Given the description of an element on the screen output the (x, y) to click on. 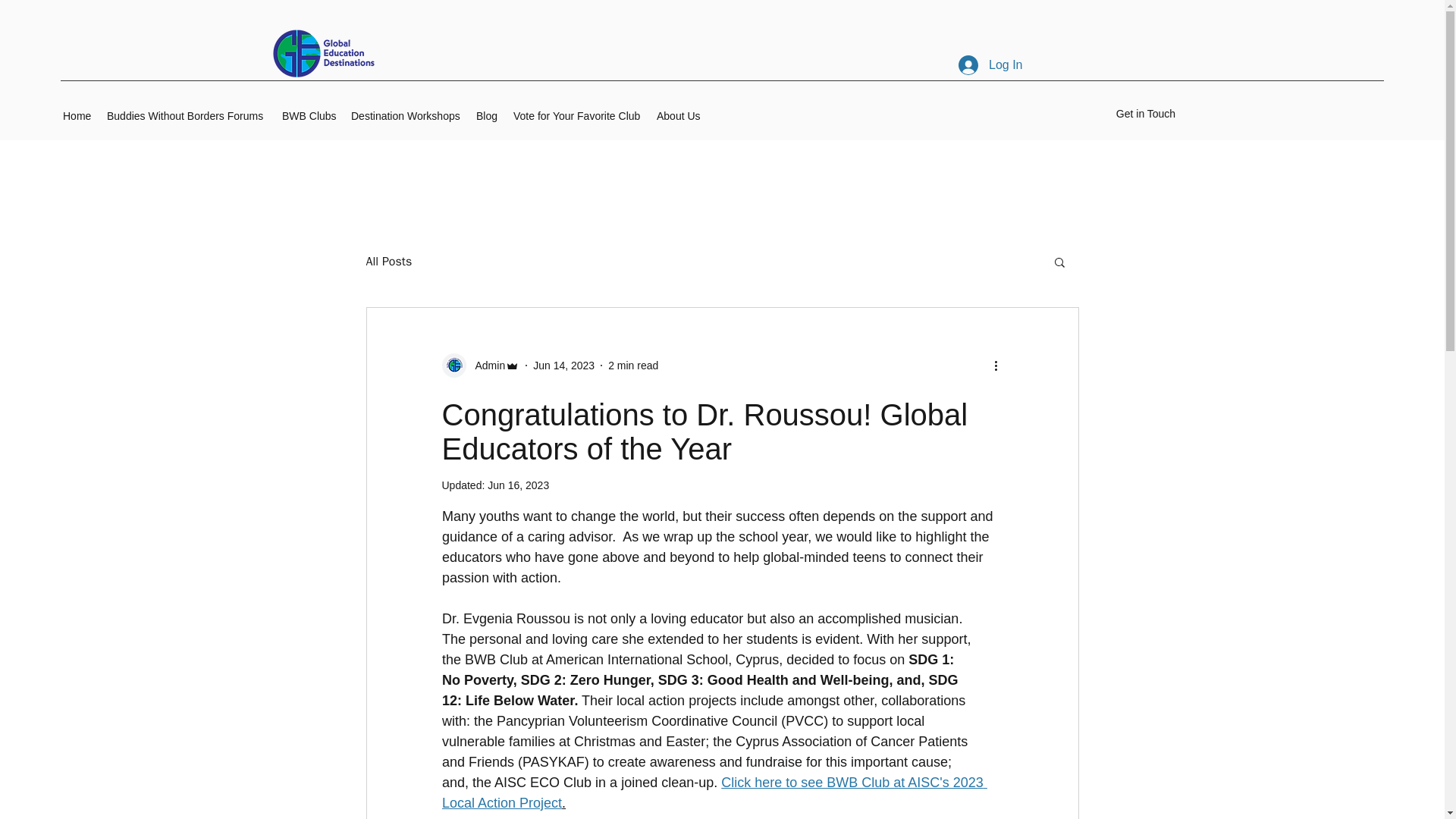
Destination Workshops (405, 115)
All Posts (388, 261)
Log In (989, 64)
Admin (480, 364)
Vote for Your Favorite Club (577, 115)
About Us (679, 115)
2 min read (633, 365)
BWB Clubs (309, 115)
Admin (485, 365)
Jun 16, 2023 (517, 485)
Home (77, 115)
Jun 14, 2023 (563, 365)
Buddies Without Borders Forums (187, 115)
Blog (486, 115)
